Given the description of an element on the screen output the (x, y) to click on. 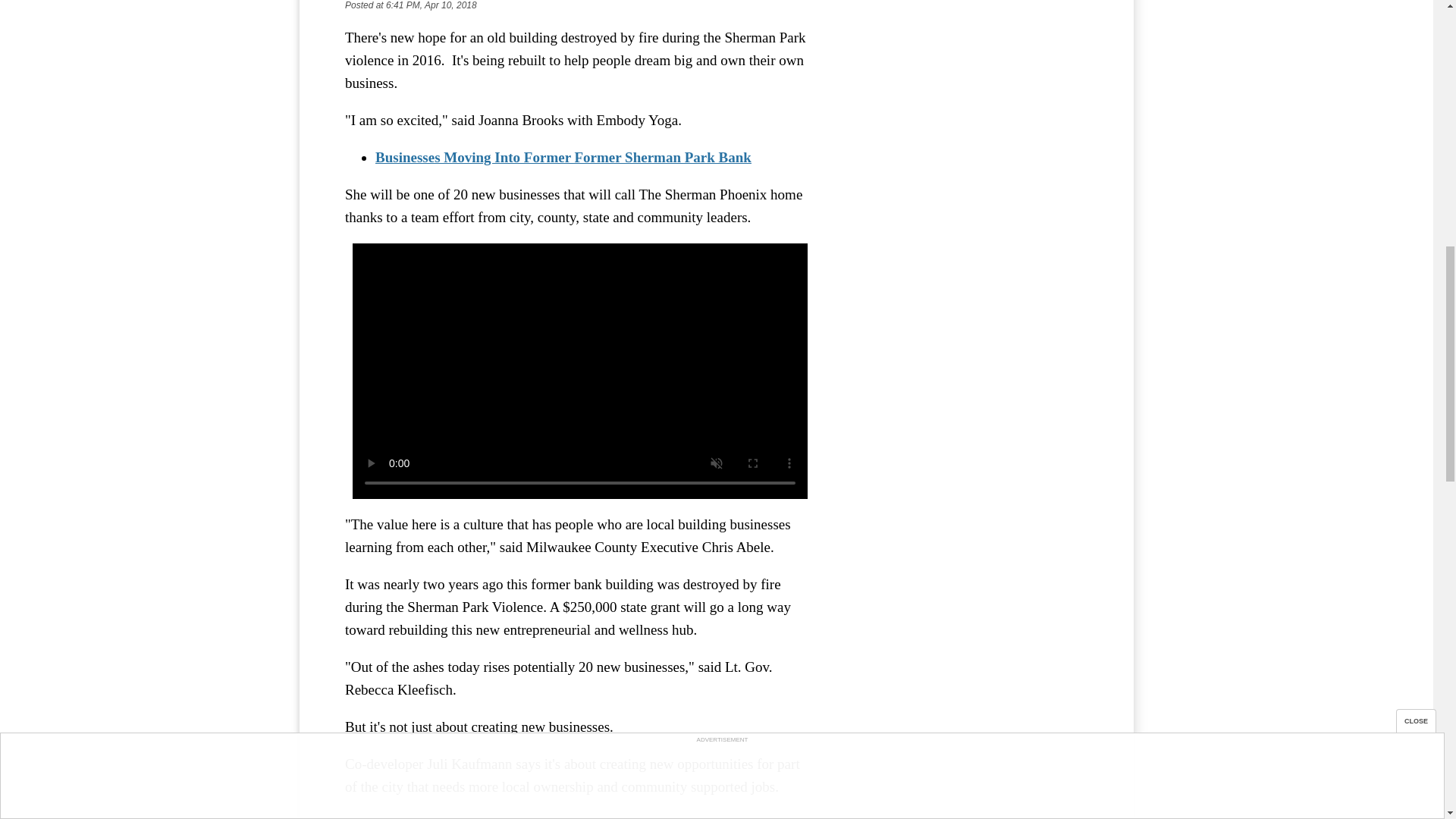
3rd party ad content (973, 91)
